Given the description of an element on the screen output the (x, y) to click on. 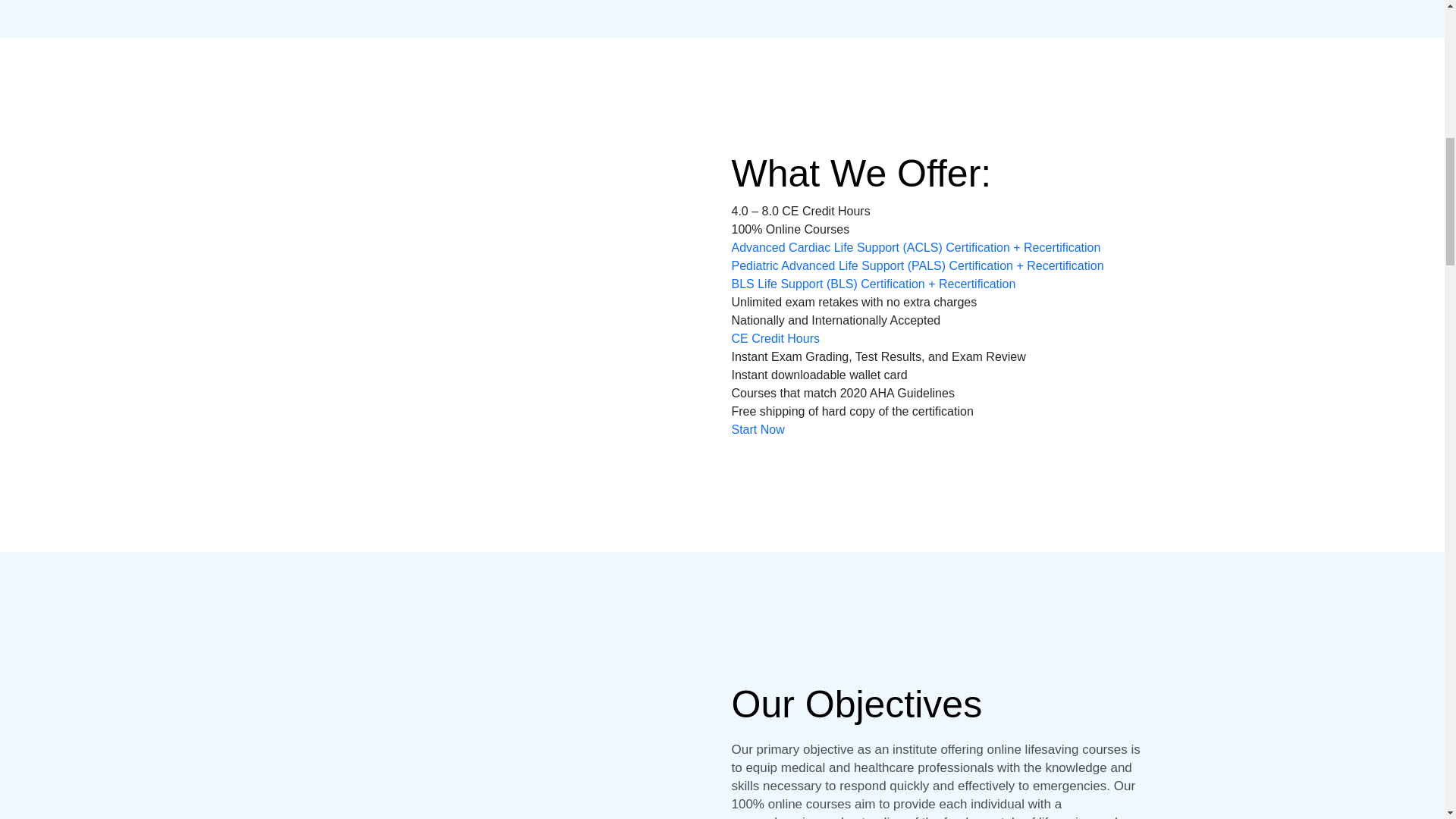
CE Credit Hours (774, 338)
